Given the description of an element on the screen output the (x, y) to click on. 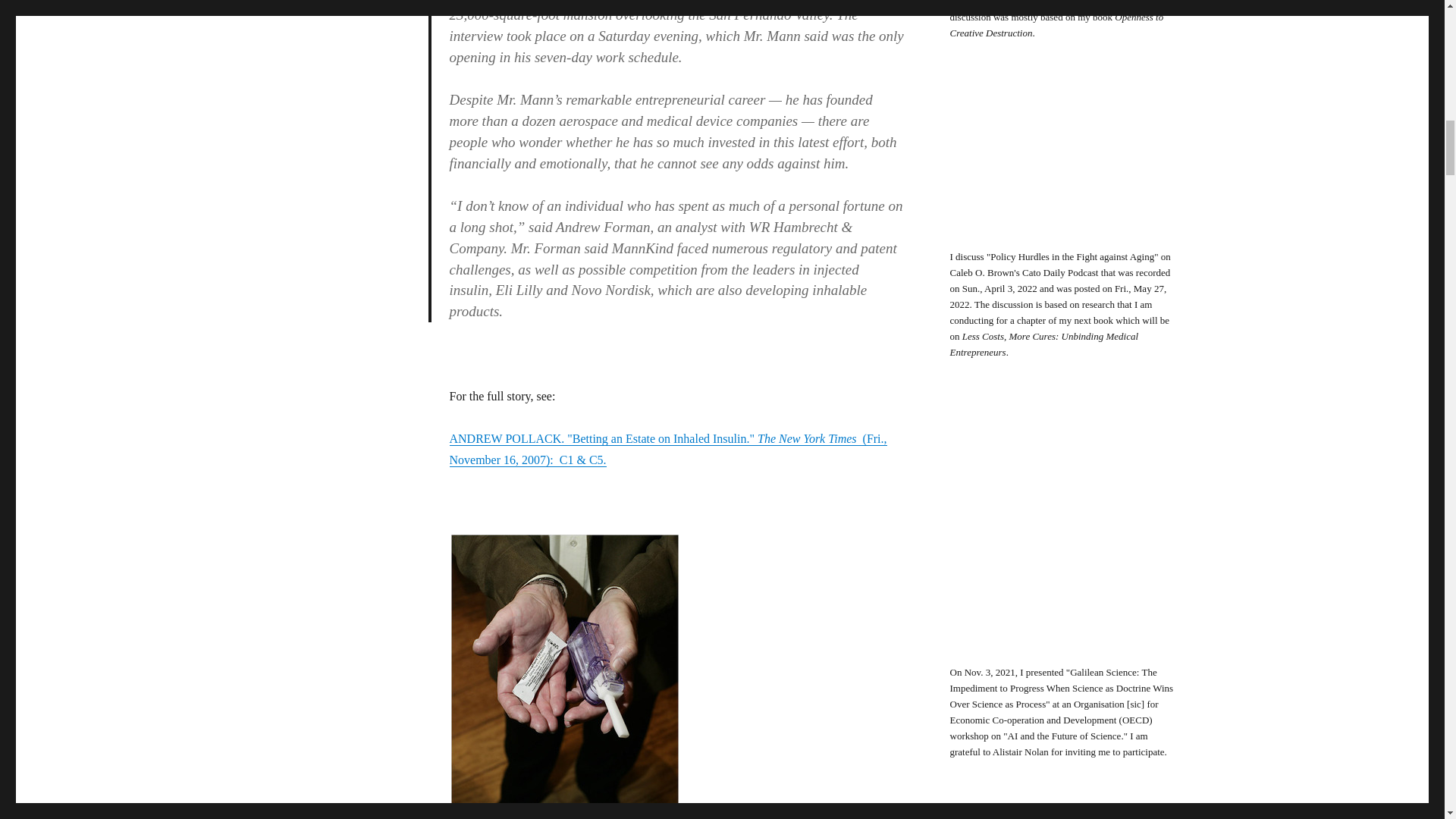
YouTube video player (1062, 527)
Embed Player (1062, 160)
